Given the description of an element on the screen output the (x, y) to click on. 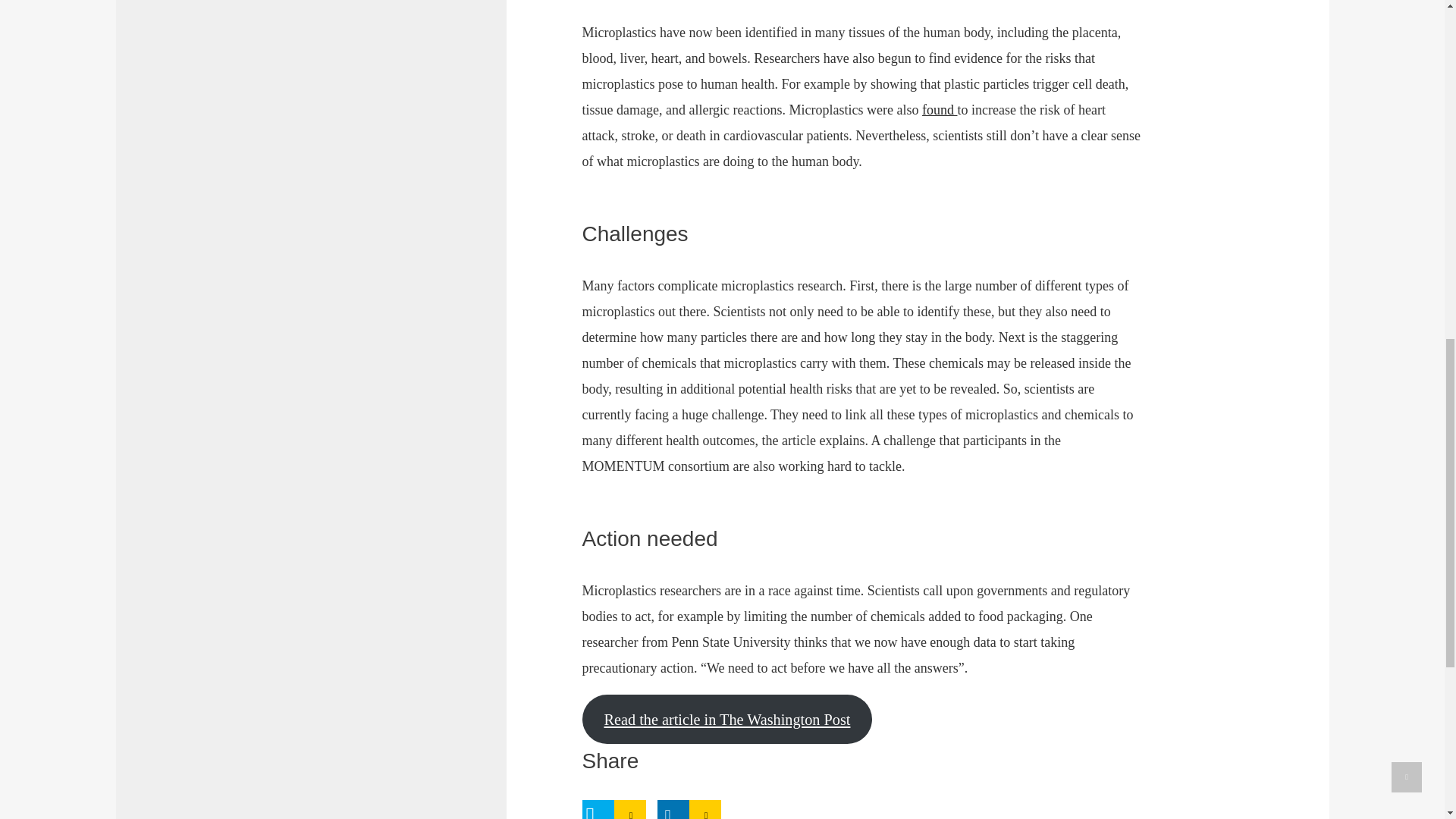
Twitter (598, 809)
LinkedIn (672, 809)
found (939, 109)
Read the article in The Washington Post (727, 718)
